Given the description of an element on the screen output the (x, y) to click on. 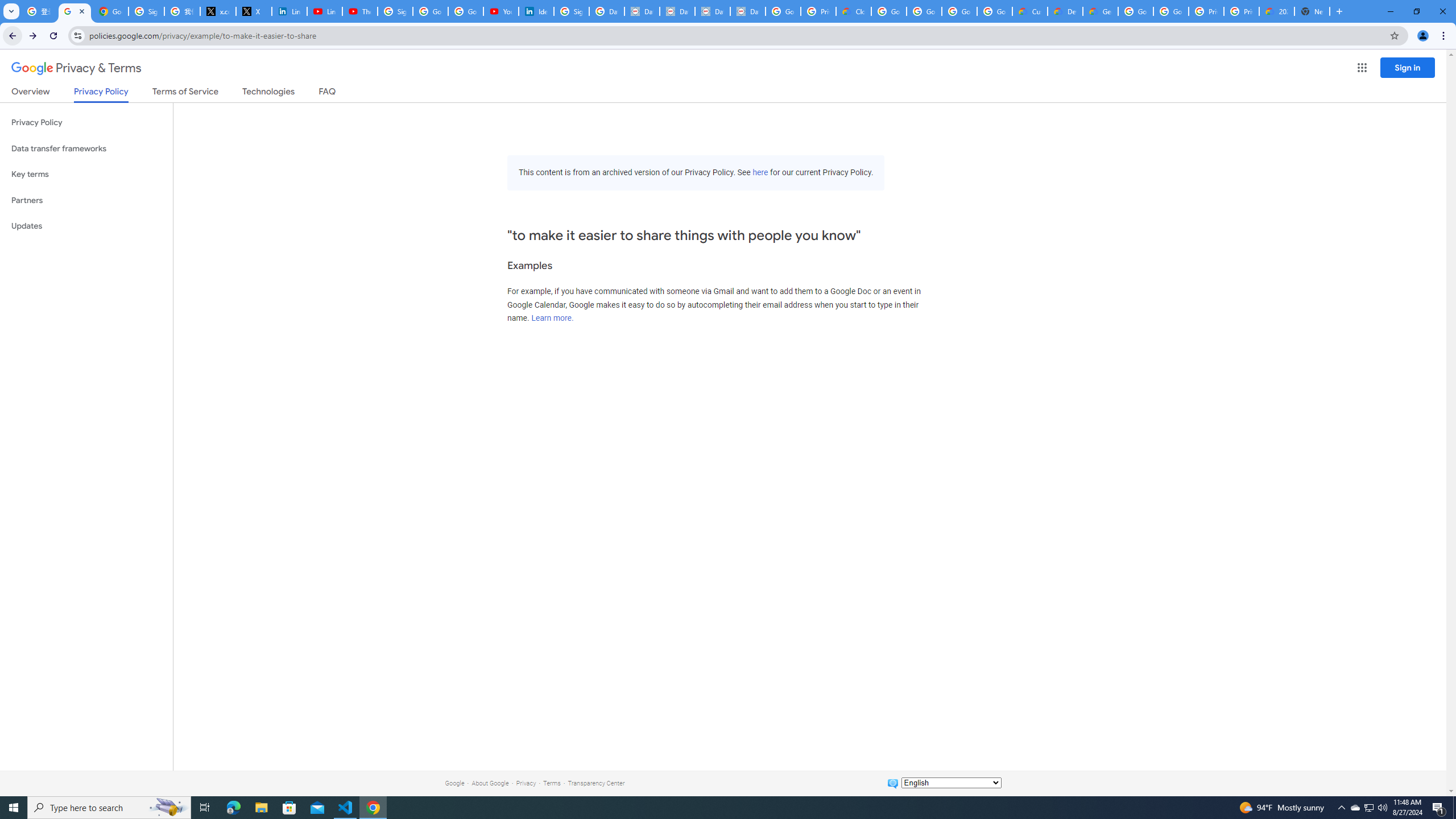
Google Workspace - Specific Terms (959, 11)
Google Cloud Platform (1170, 11)
Key terms (86, 174)
Partners (86, 199)
Data Privacy Framework (677, 11)
Change language: (951, 782)
Customer Care | Google Cloud (1029, 11)
Sign in - Google Accounts (571, 11)
